Given the description of an element on the screen output the (x, y) to click on. 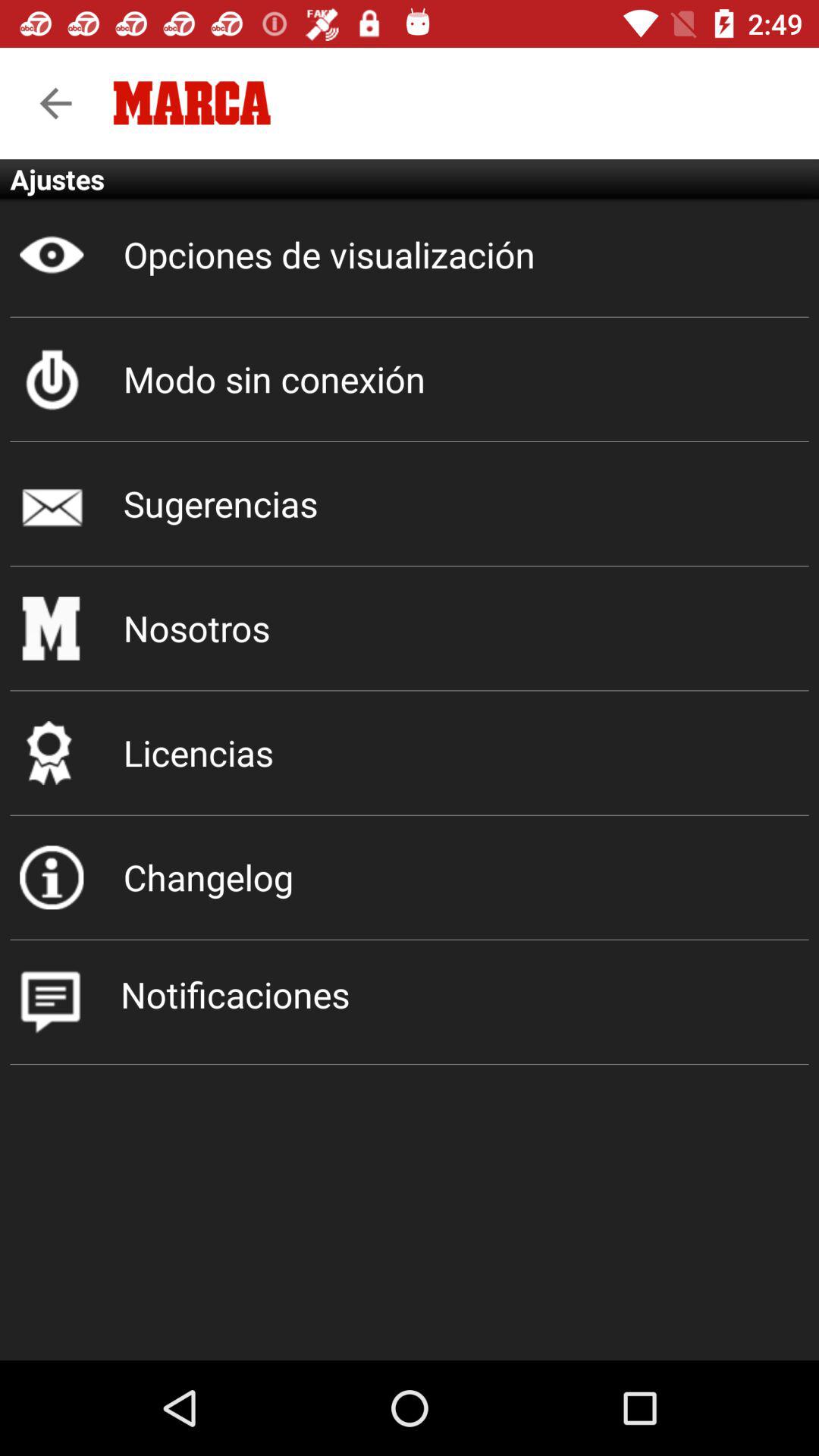
click changelog item (409, 877)
